Given the description of an element on the screen output the (x, y) to click on. 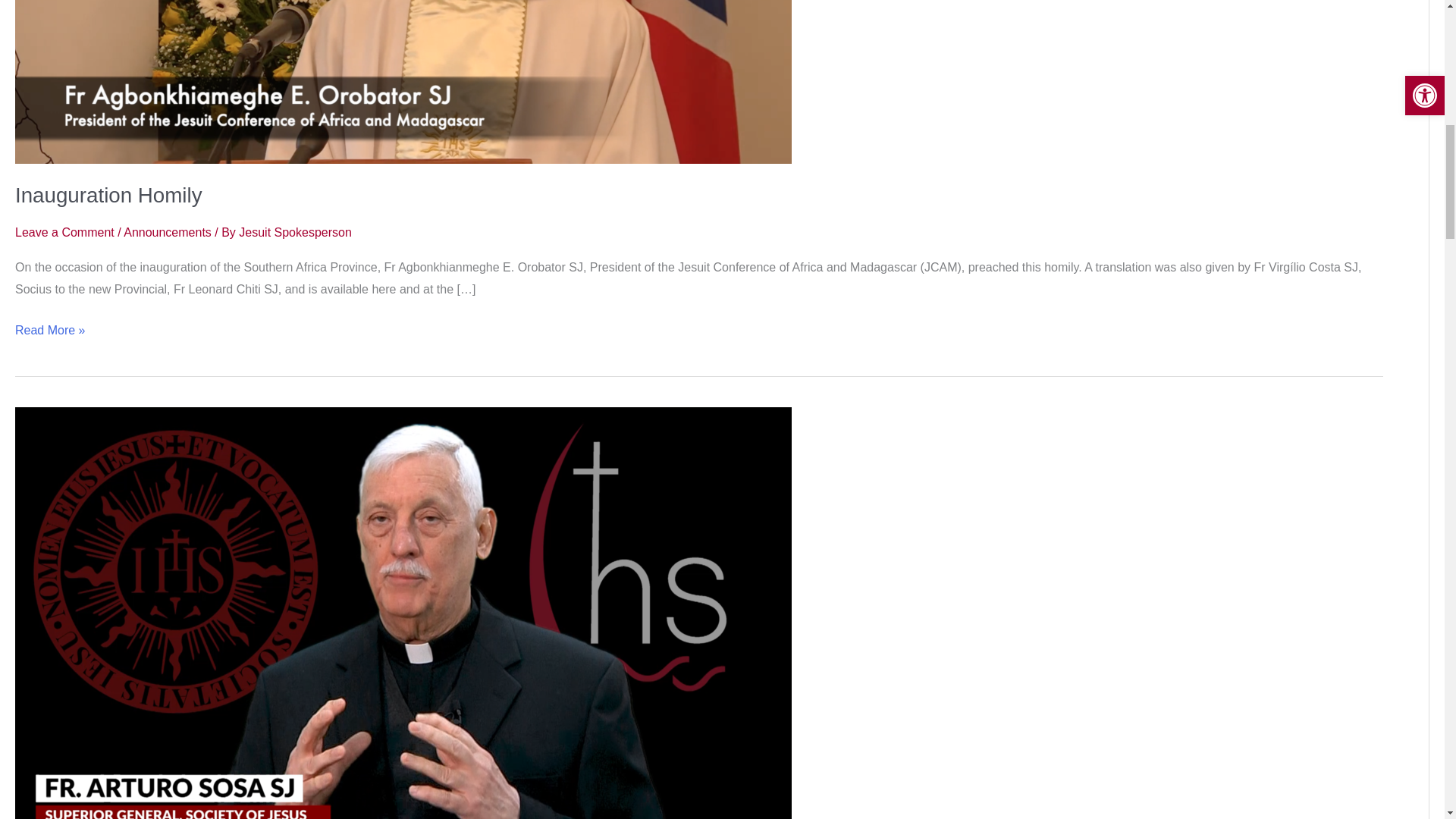
View all posts by Jesuit Spokesperson (295, 232)
